Given the description of an element on the screen output the (x, y) to click on. 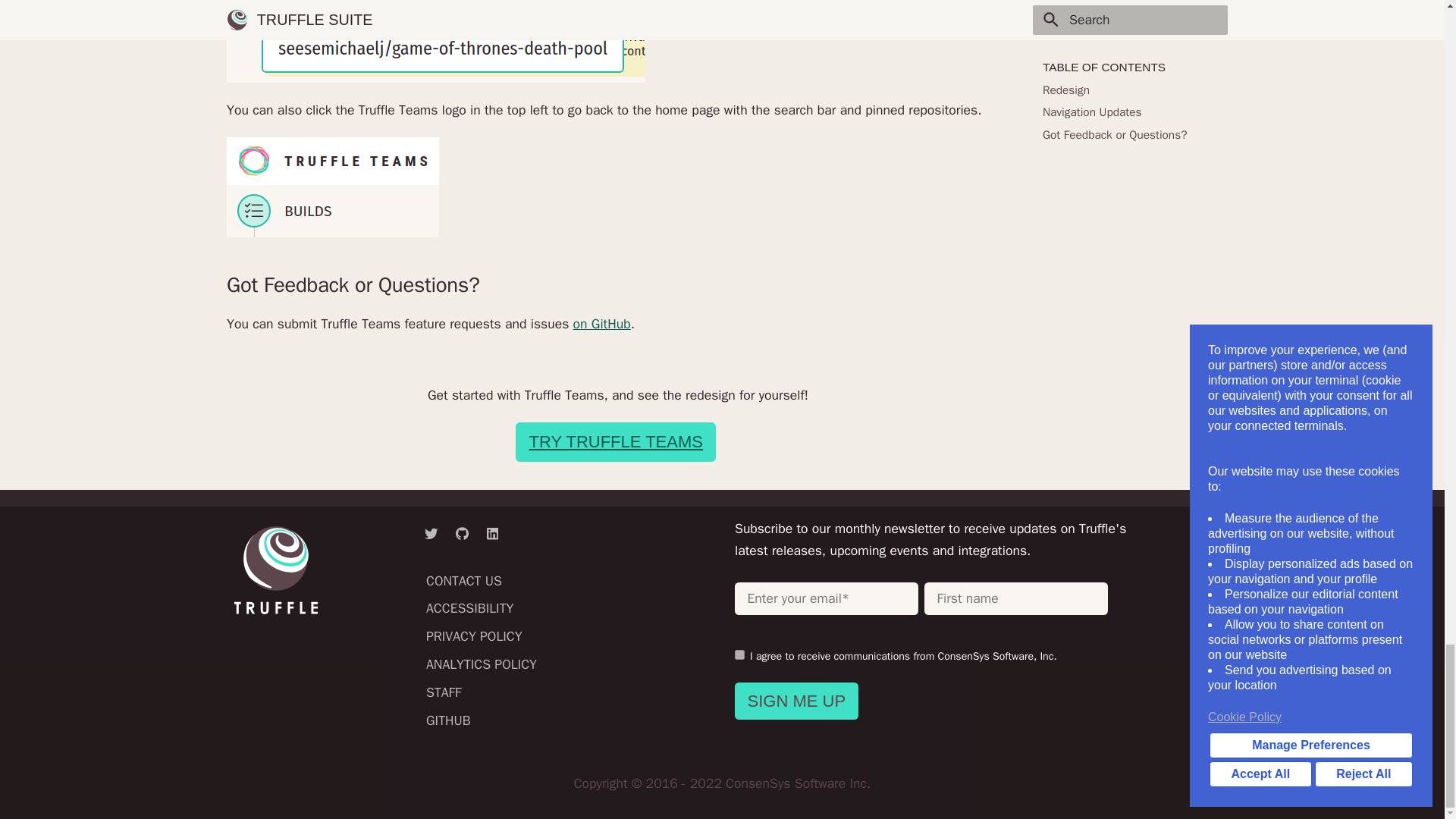
GITHUB (448, 719)
PRIVACY POLICY (474, 636)
ACCESSIBILITY (469, 607)
Truffle Twitter (430, 533)
Sign me up (797, 701)
true (739, 655)
CONTACT US (464, 580)
TRY TRUFFLE TEAMS (615, 441)
ANALYTICS POLICY (481, 664)
Truffle Github (461, 533)
Truffle LinkedIn (492, 533)
on GitHub (601, 323)
STAFF (443, 692)
Sign me up (797, 701)
